Given the description of an element on the screen output the (x, y) to click on. 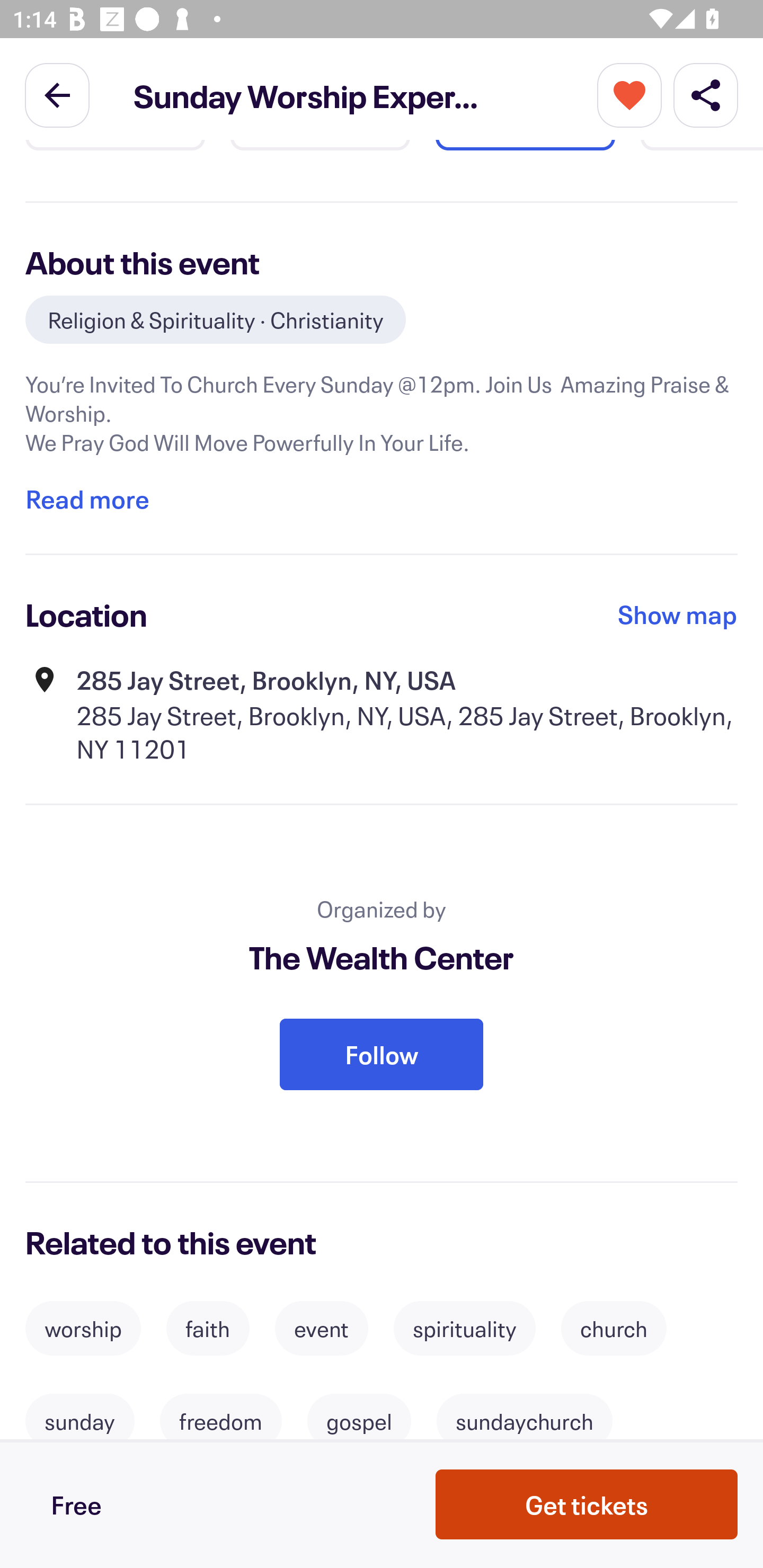
Back (57, 94)
More (629, 94)
Share (705, 94)
